Given the description of an element on the screen output the (x, y) to click on. 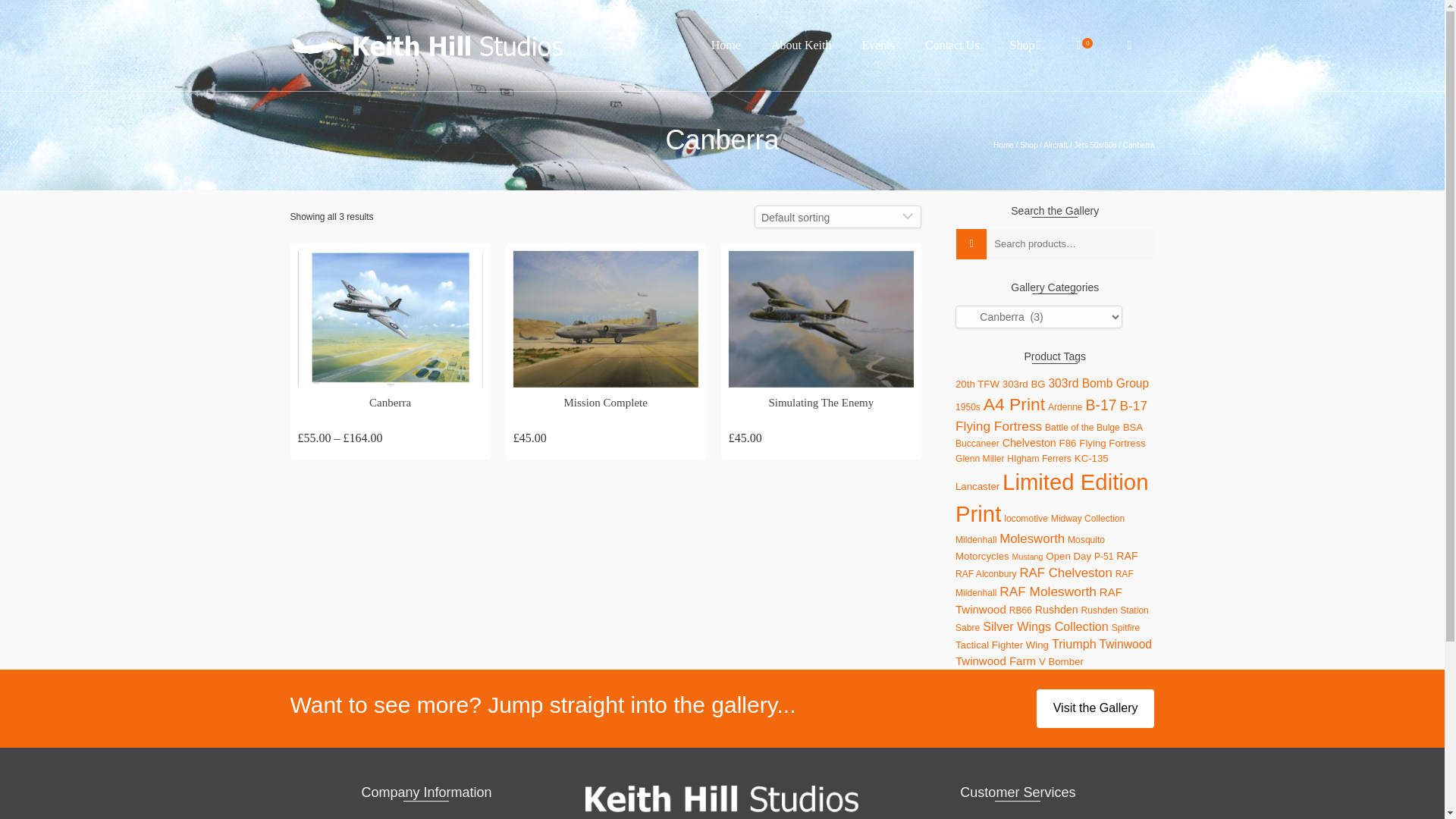
About Keith (801, 45)
Contact Us (952, 45)
